Given the description of an element on the screen output the (x, y) to click on. 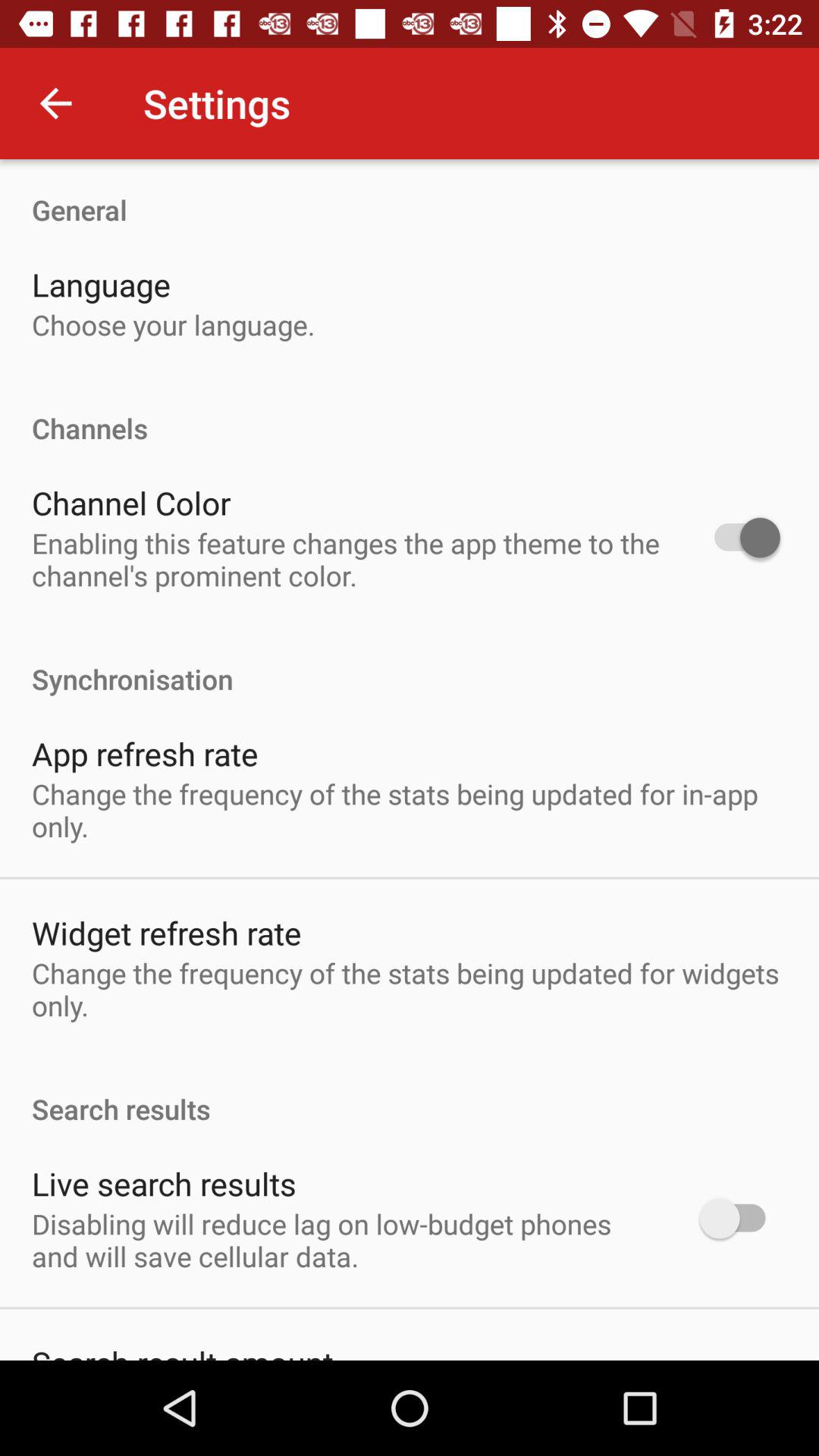
tap the item above synchronisation (345, 559)
